Given the description of an element on the screen output the (x, y) to click on. 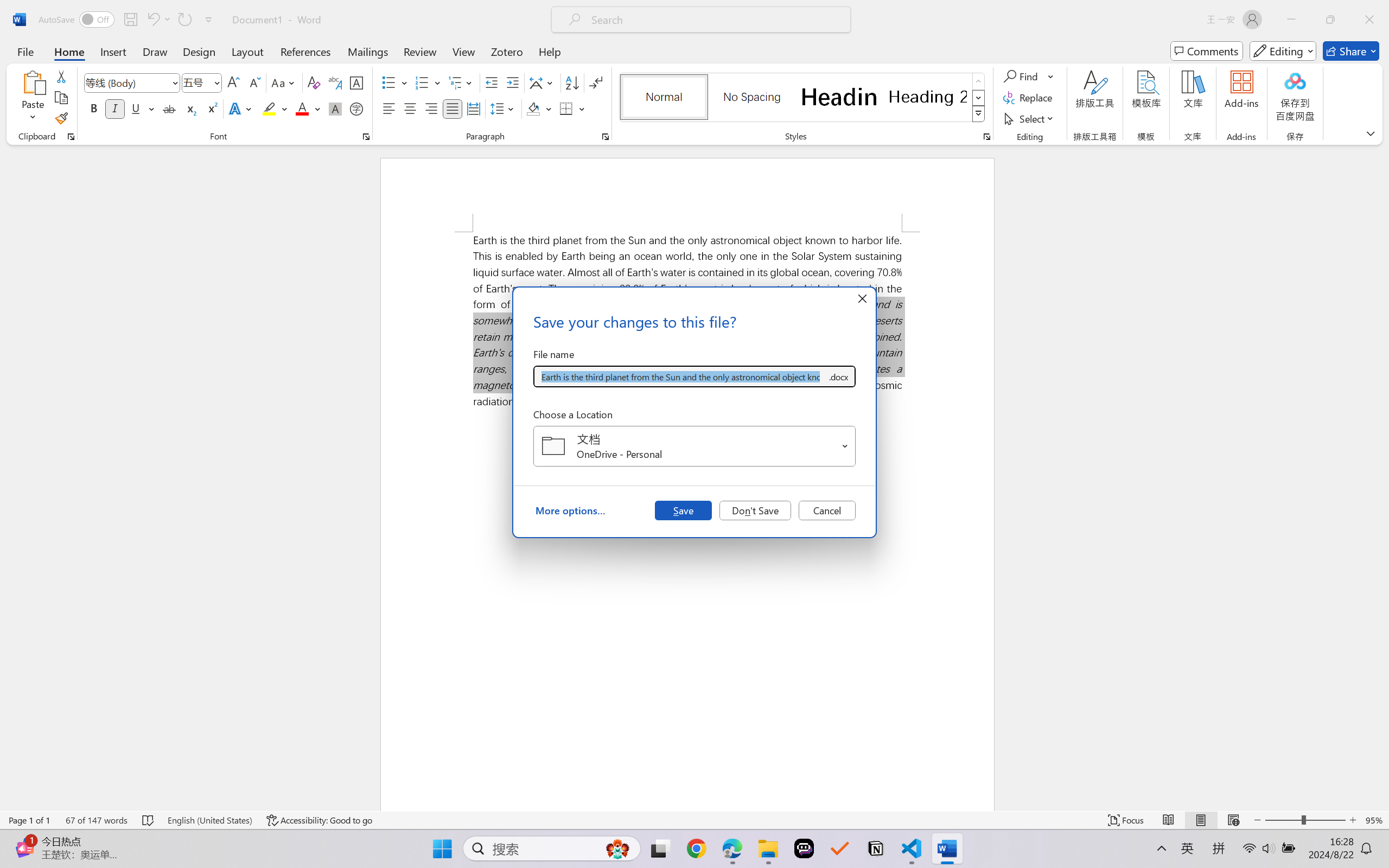
Google Chrome (696, 848)
Clear Formatting (313, 82)
File name (680, 376)
Class: NetUIScrollBar (1382, 477)
Sort... (571, 82)
Styles (978, 113)
Microsoft search (715, 19)
Strikethrough (169, 108)
